Given the description of an element on the screen output the (x, y) to click on. 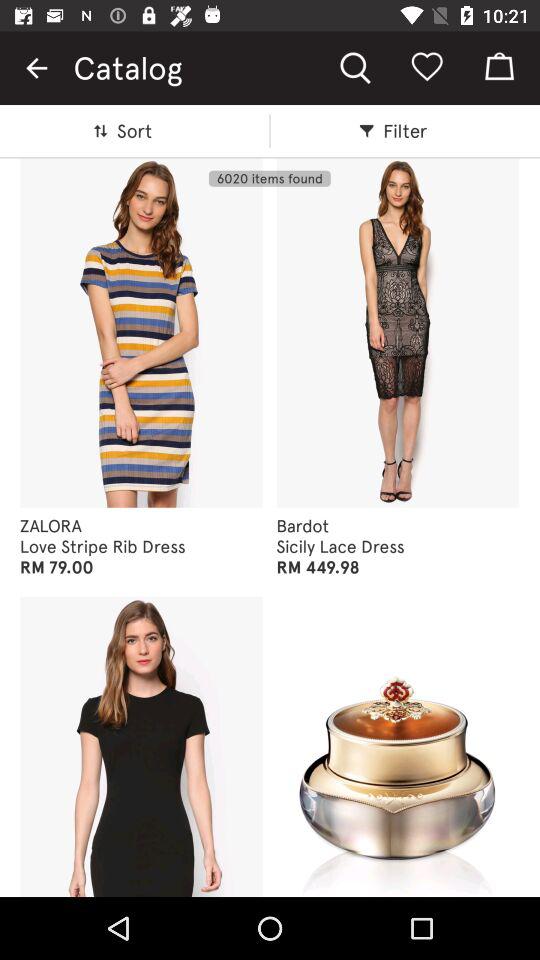
press the item to the left of catalog icon (36, 68)
